Given the description of an element on the screen output the (x, y) to click on. 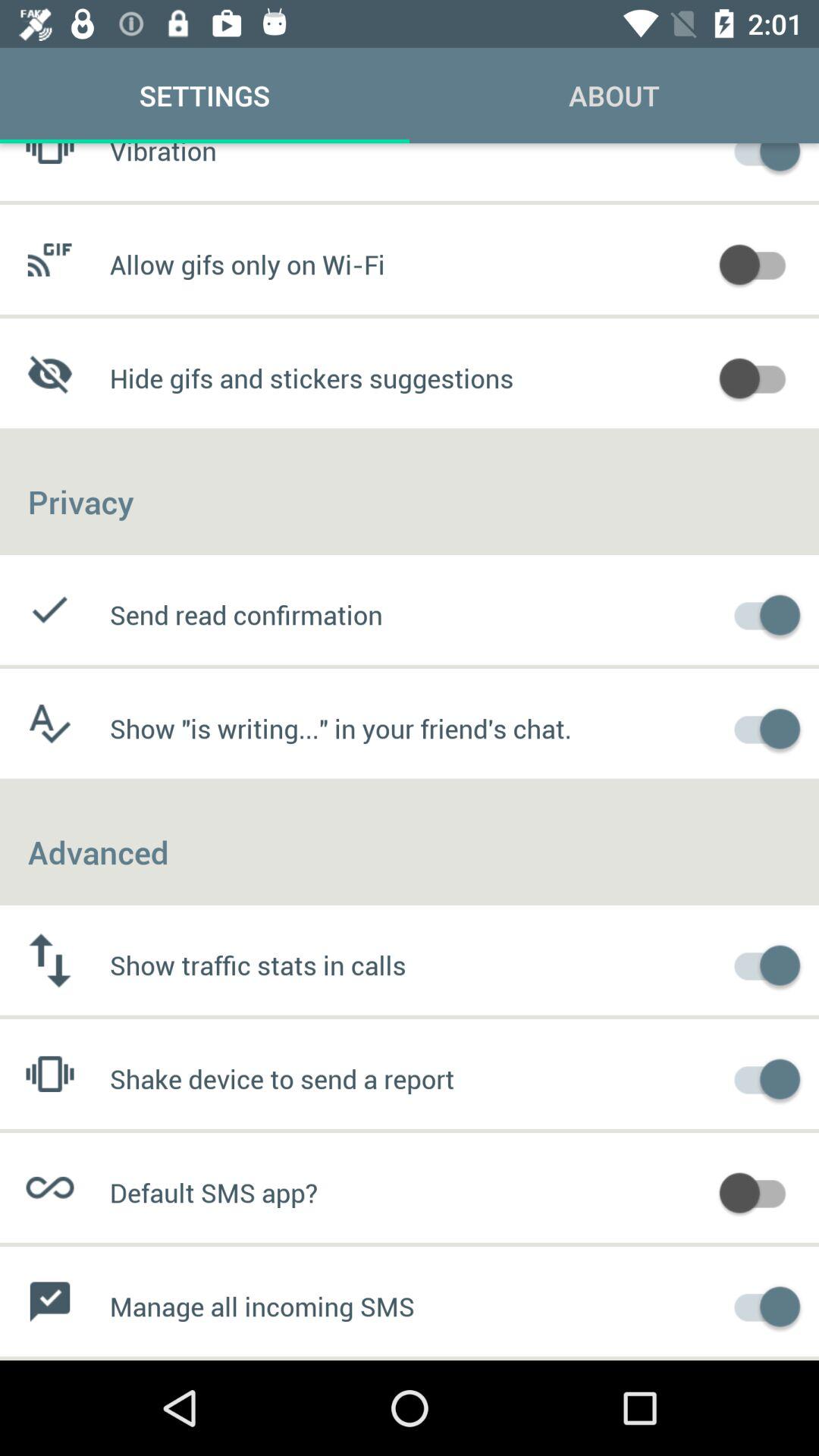
toggle manage sms (759, 1304)
